Given the description of an element on the screen output the (x, y) to click on. 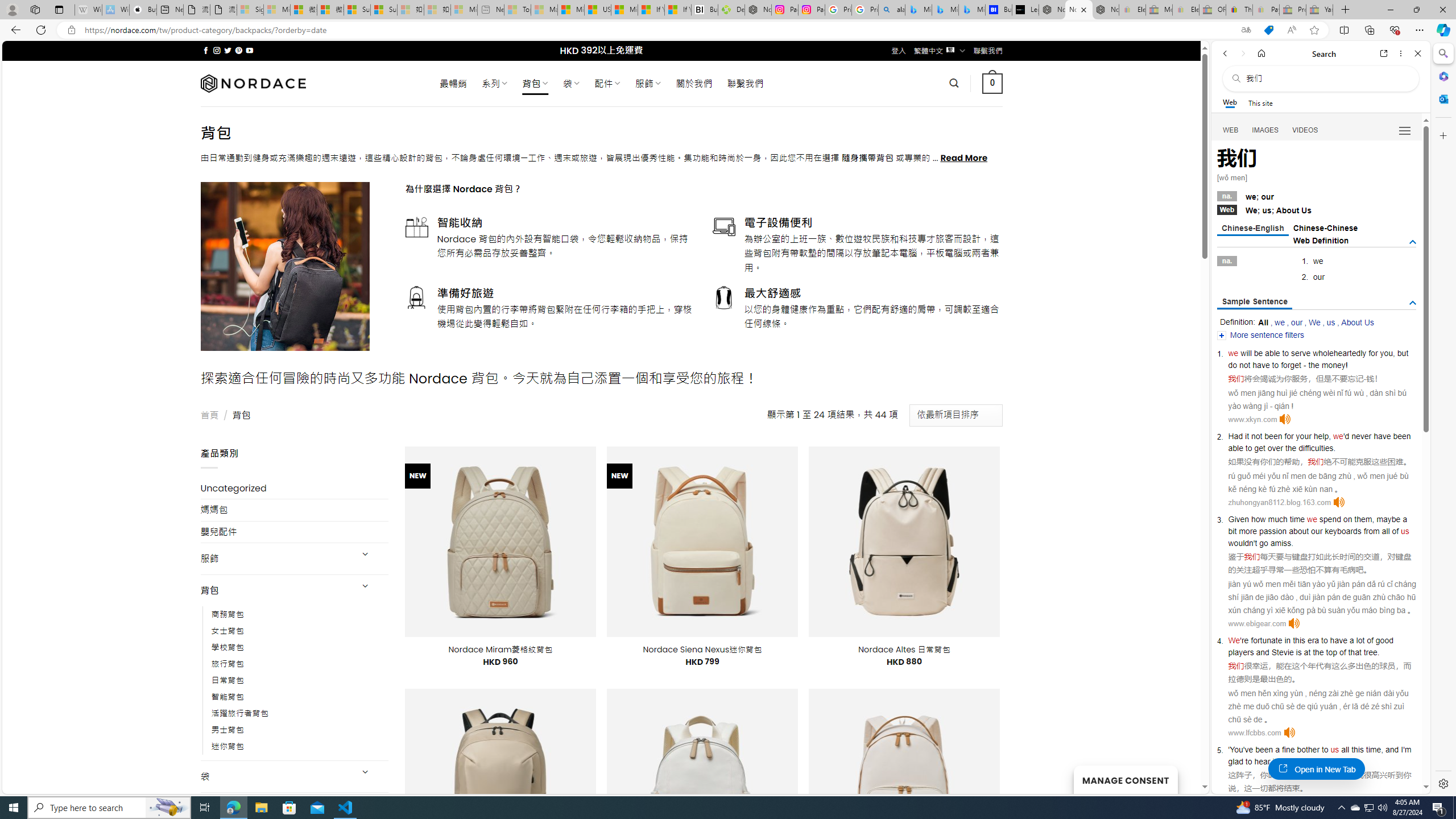
Search the web (1326, 78)
maybe (1387, 519)
www.lfcbbs.com (1254, 732)
Marine life - MSN - Sleeping (543, 9)
na.we; our (1316, 195)
glad (1235, 760)
